Given the description of an element on the screen output the (x, y) to click on. 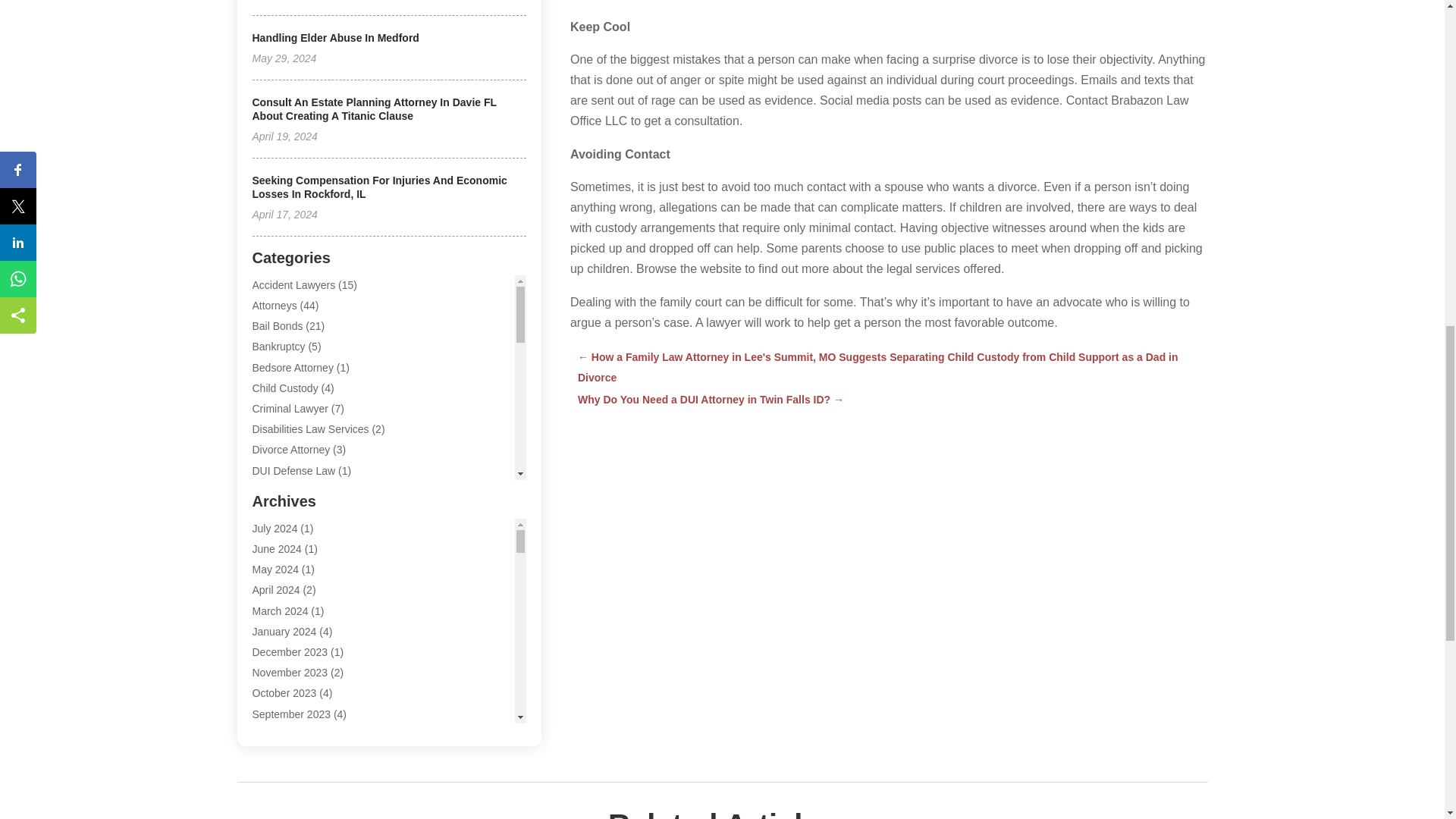
Estate Planning Lawyers (309, 532)
Accident Lawyers (292, 285)
Foreclosure (279, 573)
Elder Law (274, 491)
Handling Elder Abuse In Medford (335, 37)
Family Lawyer (285, 552)
Bedsore Attorney (292, 367)
Bail Bonds (276, 326)
DUI Defense Law (292, 470)
Child Custody (284, 387)
Disabilities Law Services (309, 428)
Divorce Attorney (290, 449)
Bankruptcy (277, 346)
